Given the description of an element on the screen output the (x, y) to click on. 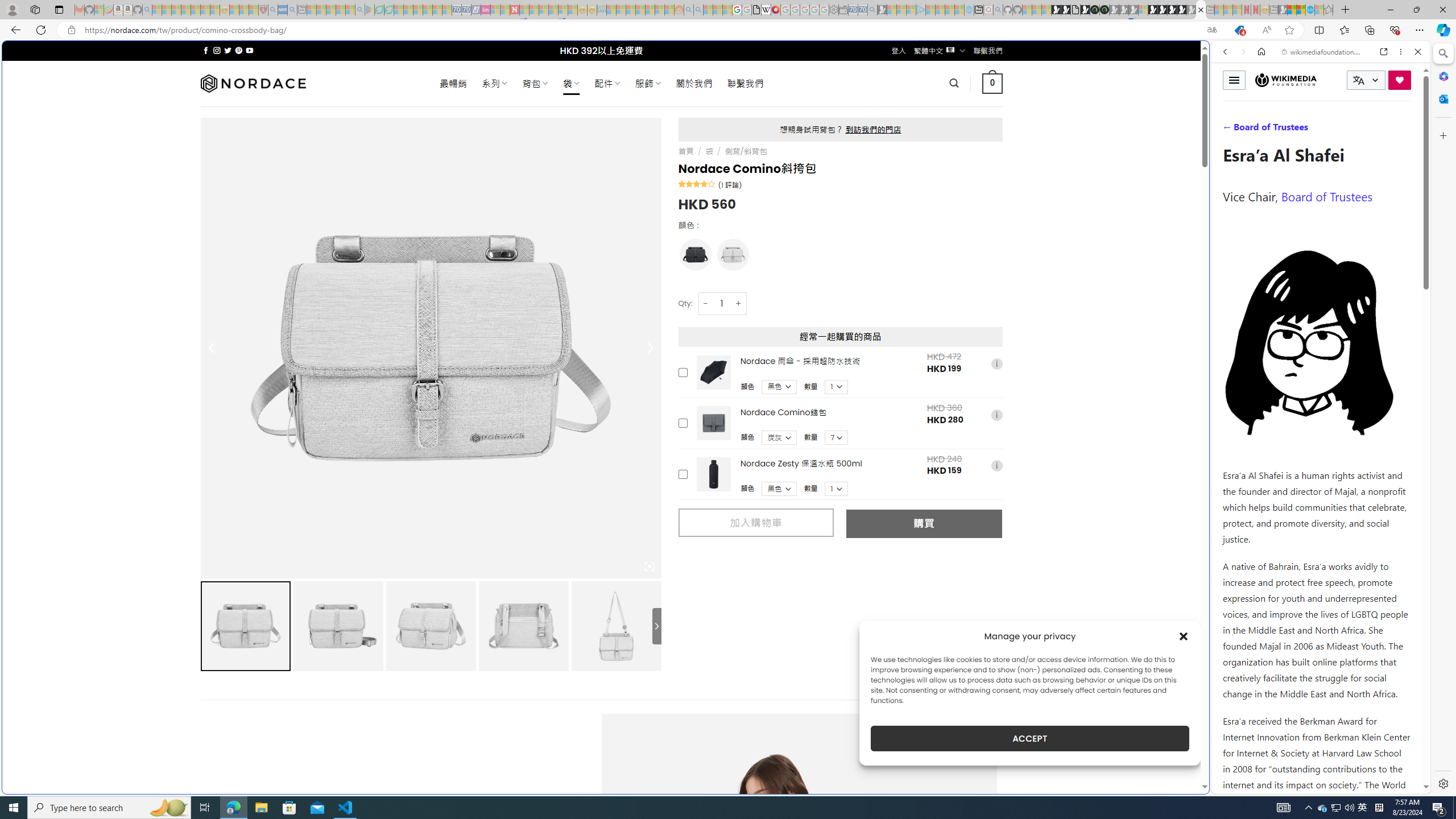
Class: upsell-v2-product-upsell-variable-product-qty-select (836, 488)
Wikimedia Foundation (1286, 79)
